Given the description of an element on the screen output the (x, y) to click on. 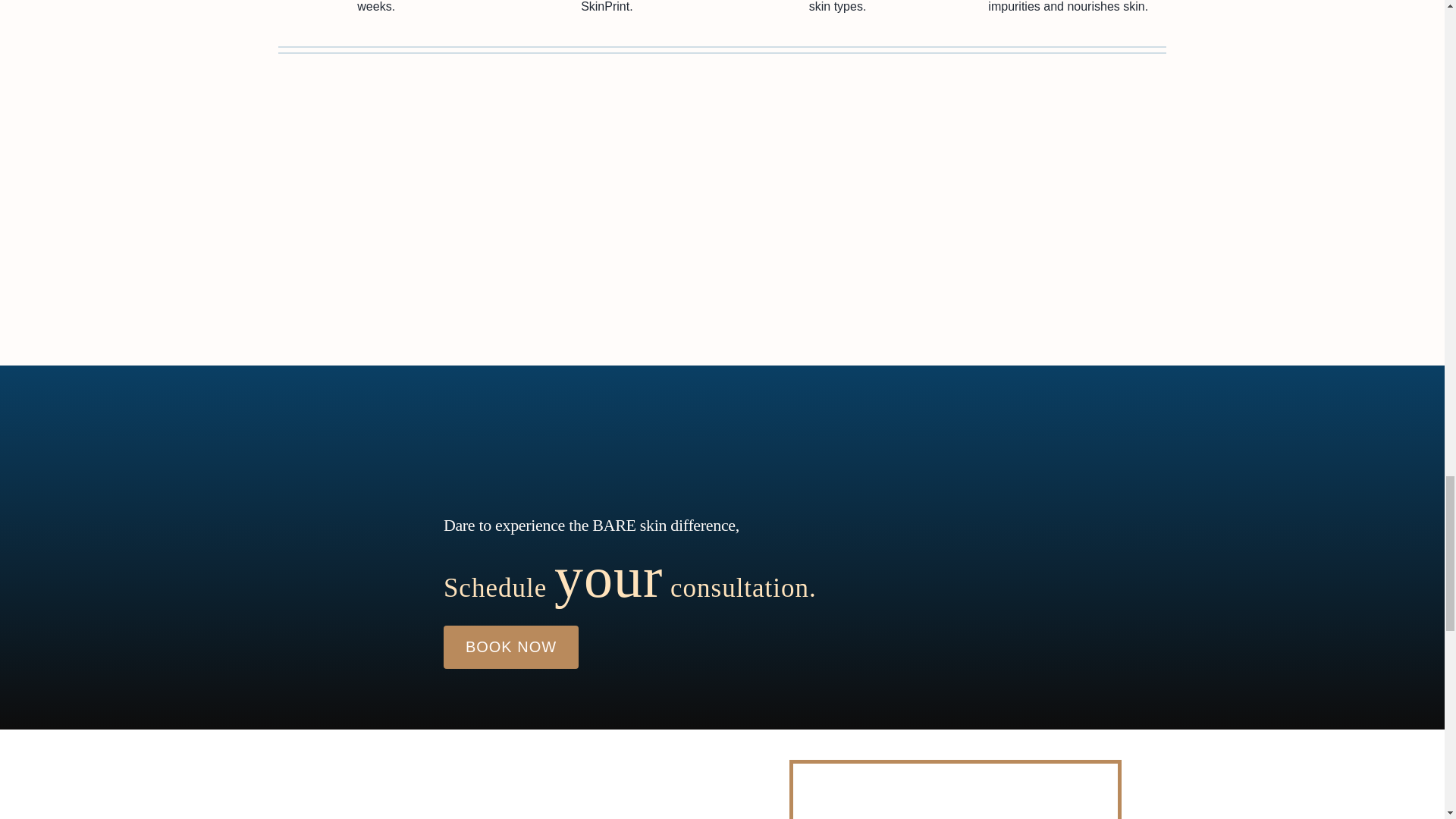
Products2 (537, 800)
skinprint-logo-2 (954, 801)
